Given the description of an element on the screen output the (x, y) to click on. 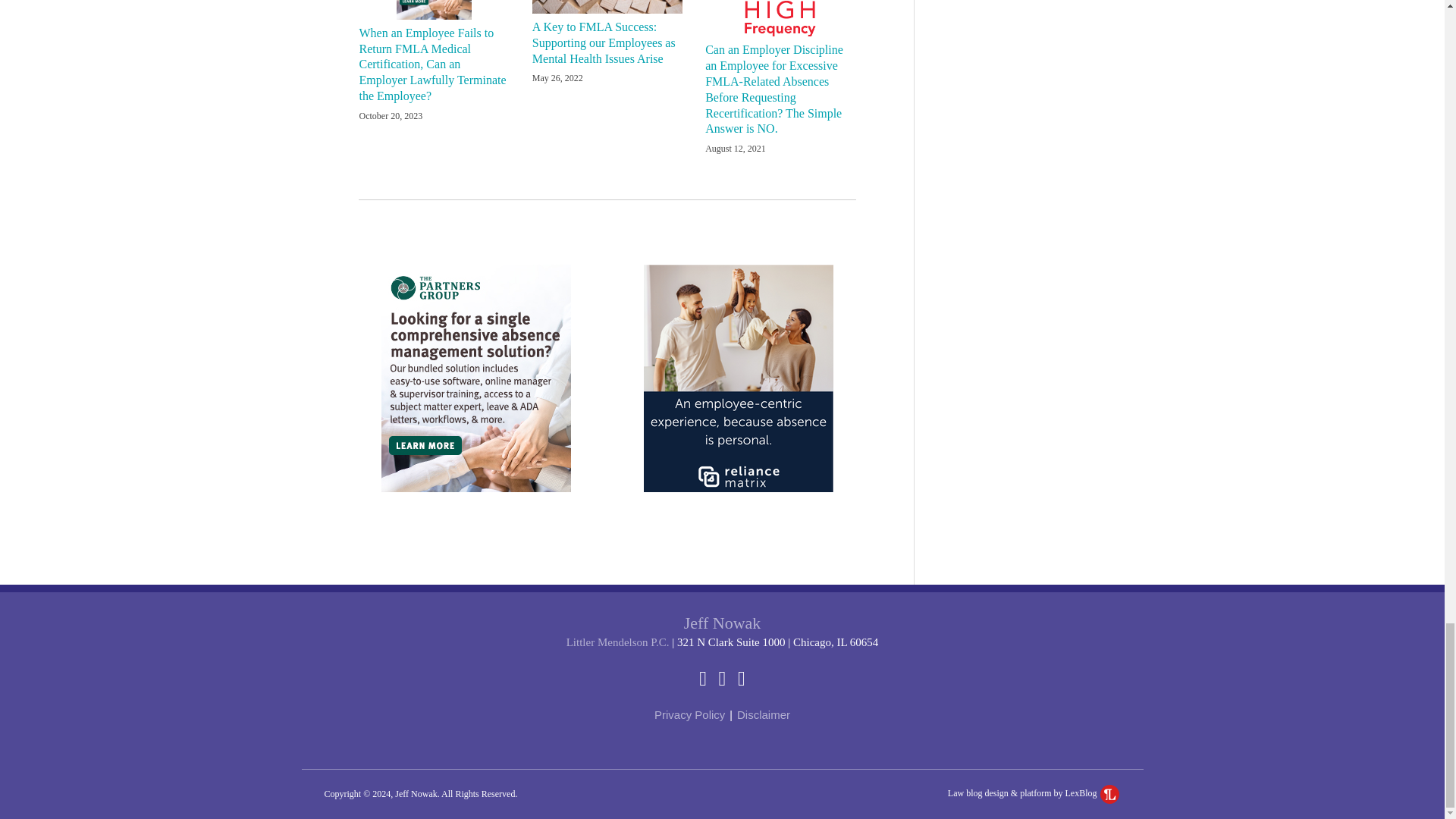
LexBlog Logo (1109, 793)
